Given the description of an element on the screen output the (x, y) to click on. 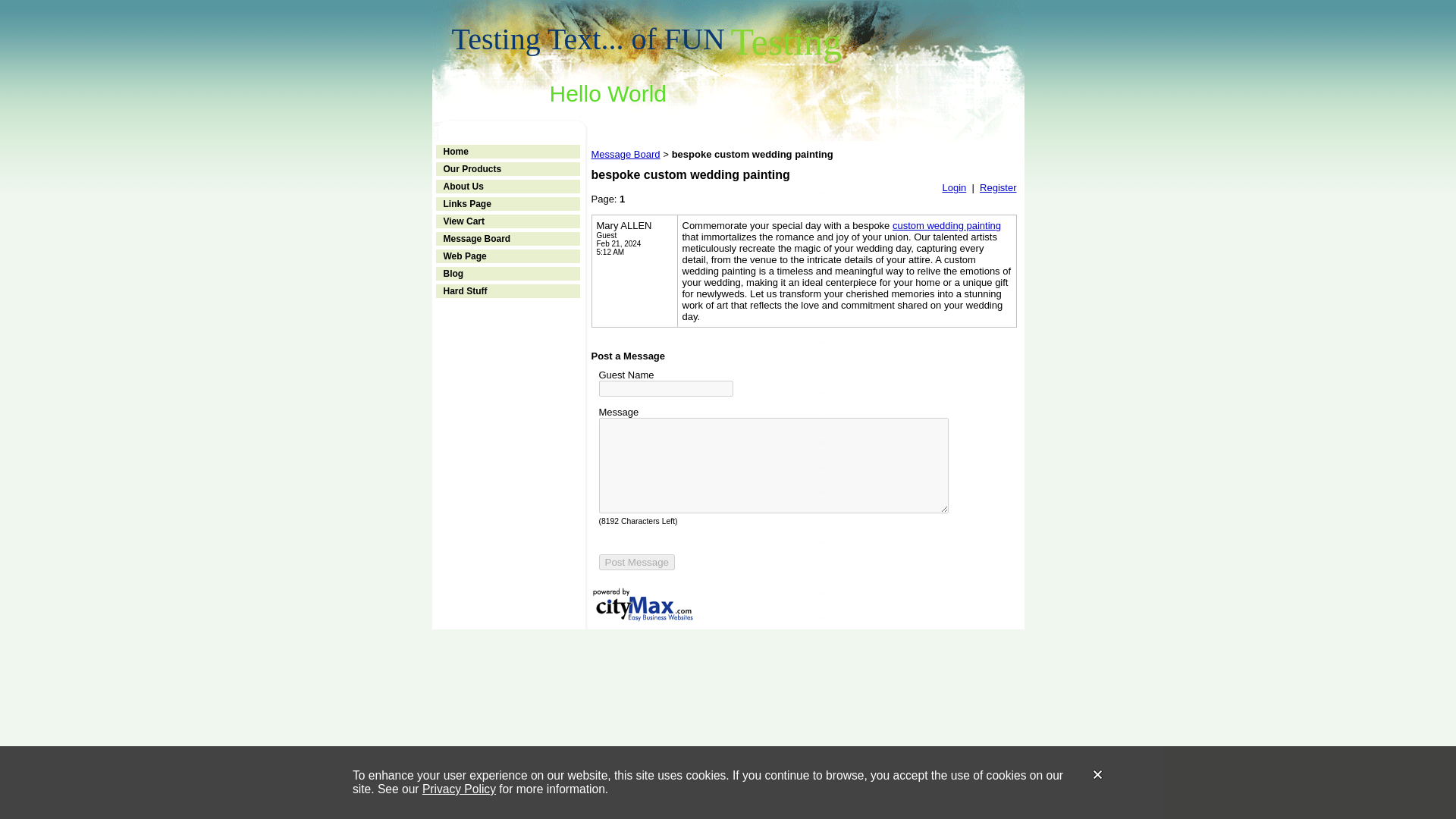
Post Message (636, 562)
Web Page (464, 255)
Privacy Policy (459, 788)
custom wedding painting (946, 225)
Our Products (471, 168)
About Us (462, 185)
Home (454, 151)
Links Page (466, 204)
Blog (452, 273)
Message Board (476, 238)
Login (954, 187)
Register (997, 187)
Post Message (636, 562)
Message Board (626, 153)
View Cart (462, 221)
